Given the description of an element on the screen output the (x, y) to click on. 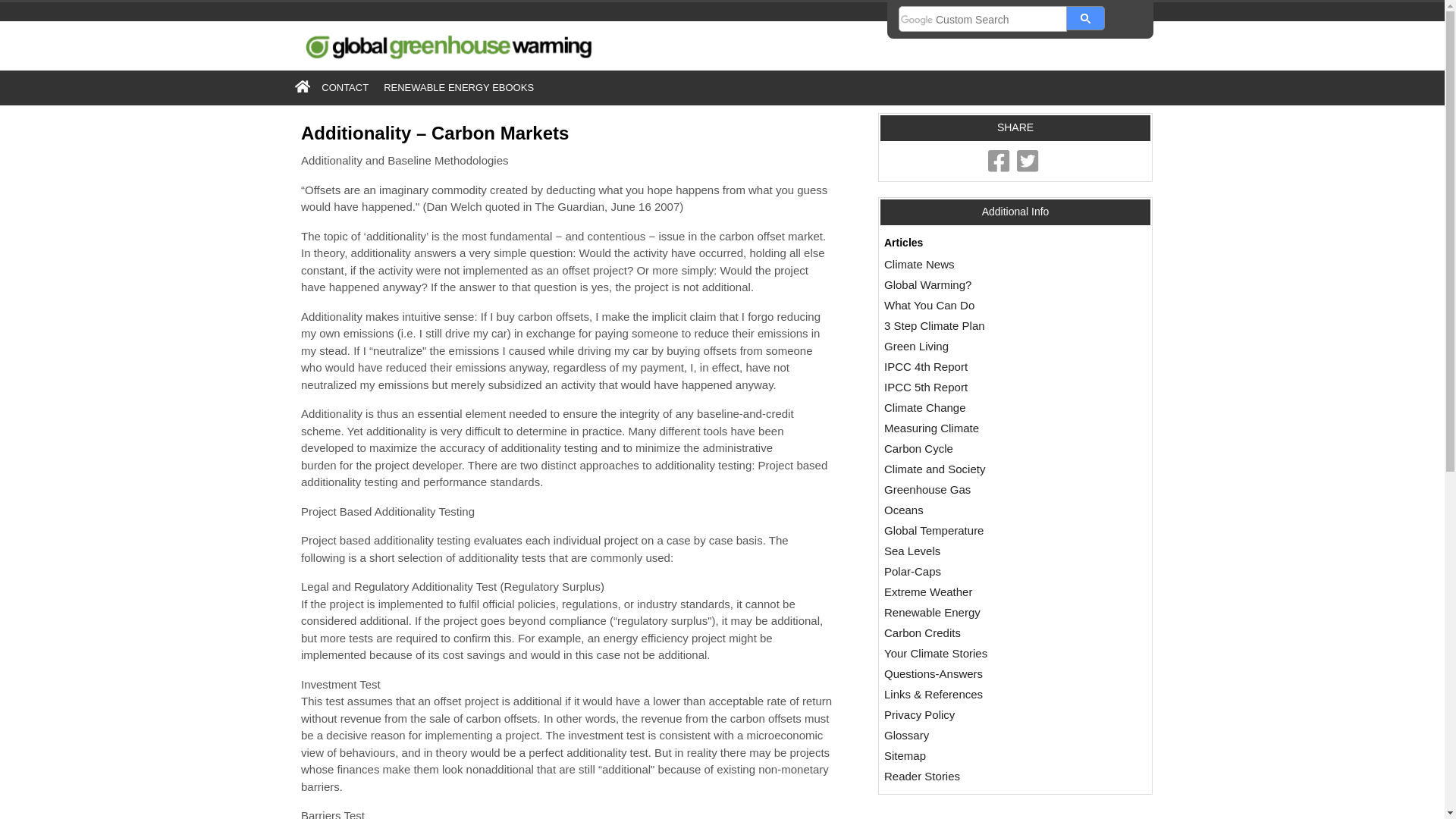
Questions-Answers (932, 673)
Global Temperature (933, 530)
Reader Stories (921, 775)
Carbon Cycle (918, 448)
Climate News (919, 264)
search (982, 19)
Green Living (916, 345)
Climate and Society (934, 468)
Polar-Caps (911, 571)
RENEWABLE ENERGY EBOOKS (458, 87)
